Given the description of an element on the screen output the (x, y) to click on. 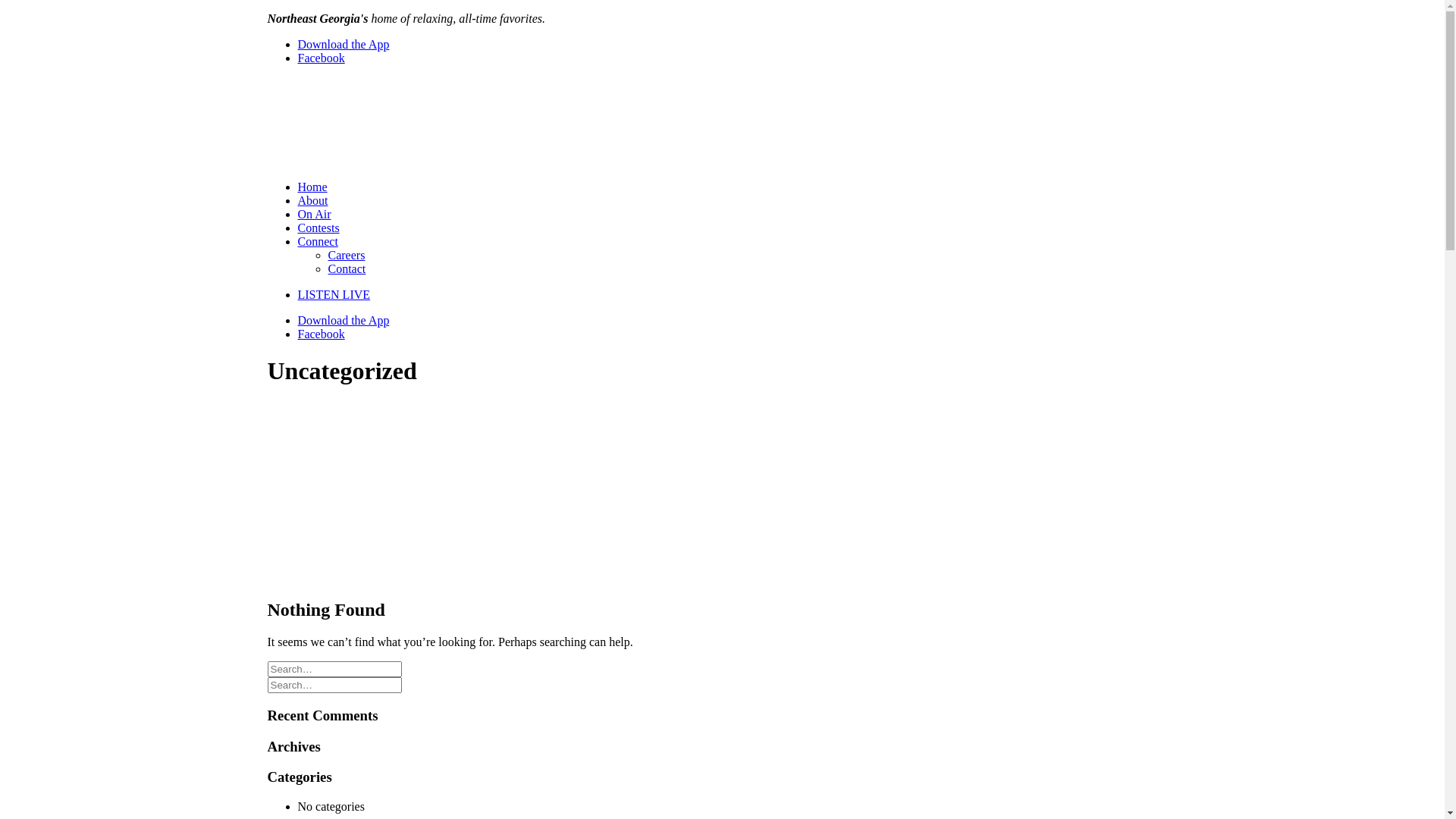
Connect Element type: text (317, 241)
Contact Element type: text (346, 268)
Download the App Element type: text (343, 43)
Download the App Element type: text (343, 319)
Facebook Element type: text (320, 333)
Search for: Element type: hover (333, 669)
About Element type: text (312, 200)
Facebook Element type: text (320, 57)
LISTEN LIVE Element type: text (736, 294)
Contests Element type: text (317, 227)
Careers Element type: text (345, 254)
Home Element type: text (311, 186)
On Air Element type: text (313, 213)
Search for: Element type: hover (333, 685)
